Given the description of an element on the screen output the (x, y) to click on. 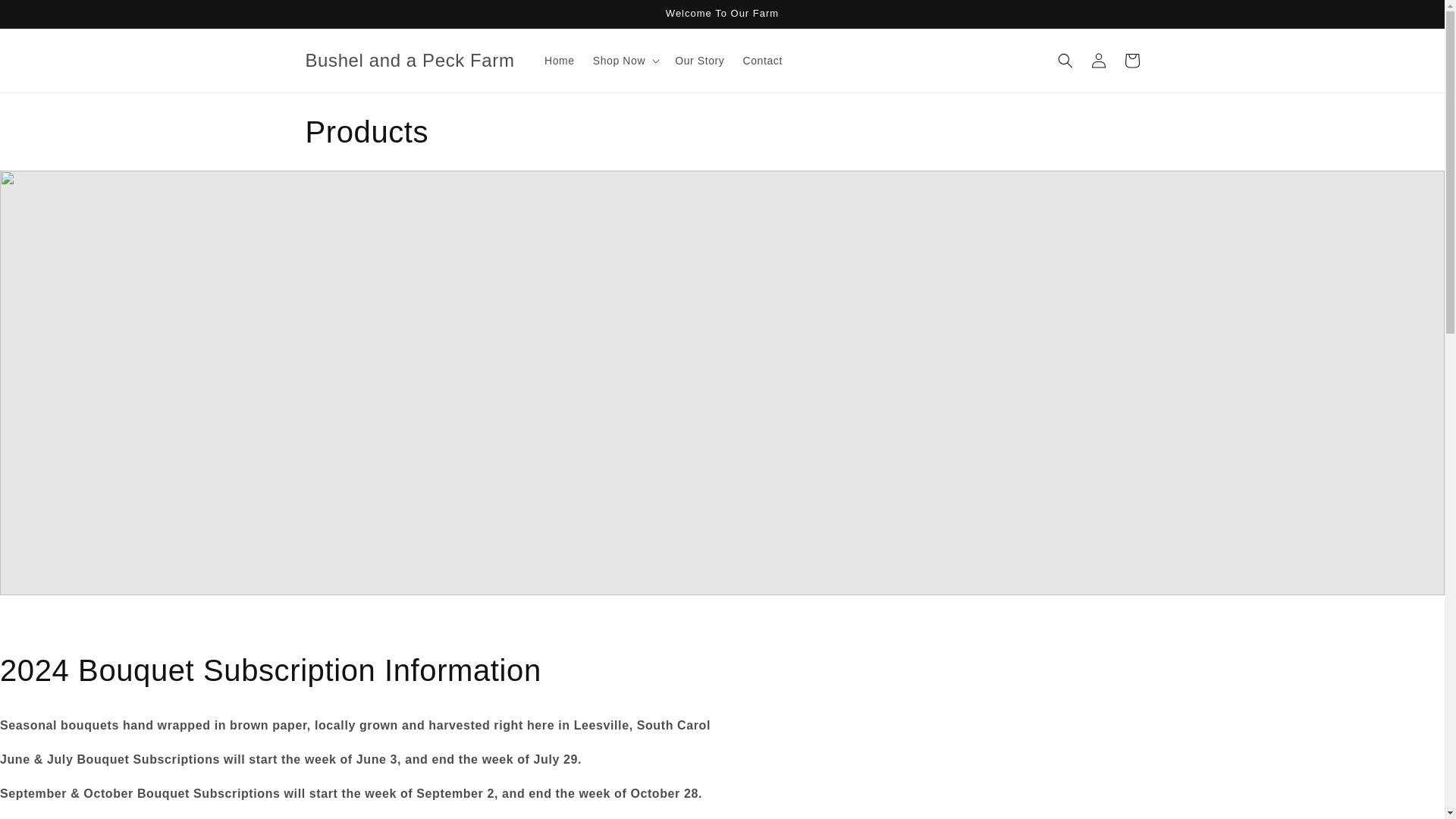
Log in (1098, 60)
Our Story (699, 60)
Contact (761, 60)
Skip to content (45, 17)
Cart (1131, 60)
Bushel and a Peck Farm (409, 60)
Home (559, 60)
